Given the description of an element on the screen output the (x, y) to click on. 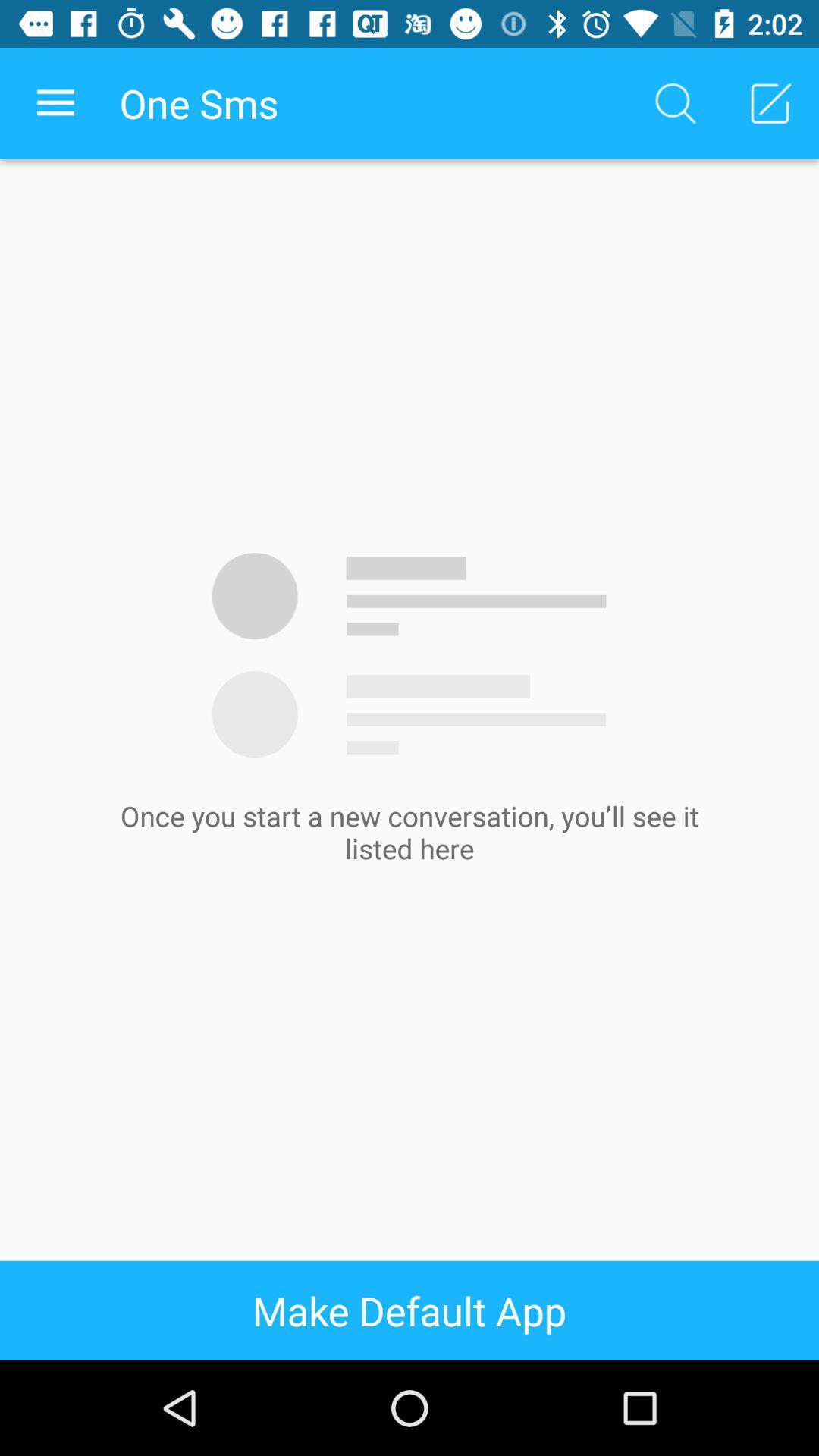
select the icon to the right of one sms app (675, 103)
